Given the description of an element on the screen output the (x, y) to click on. 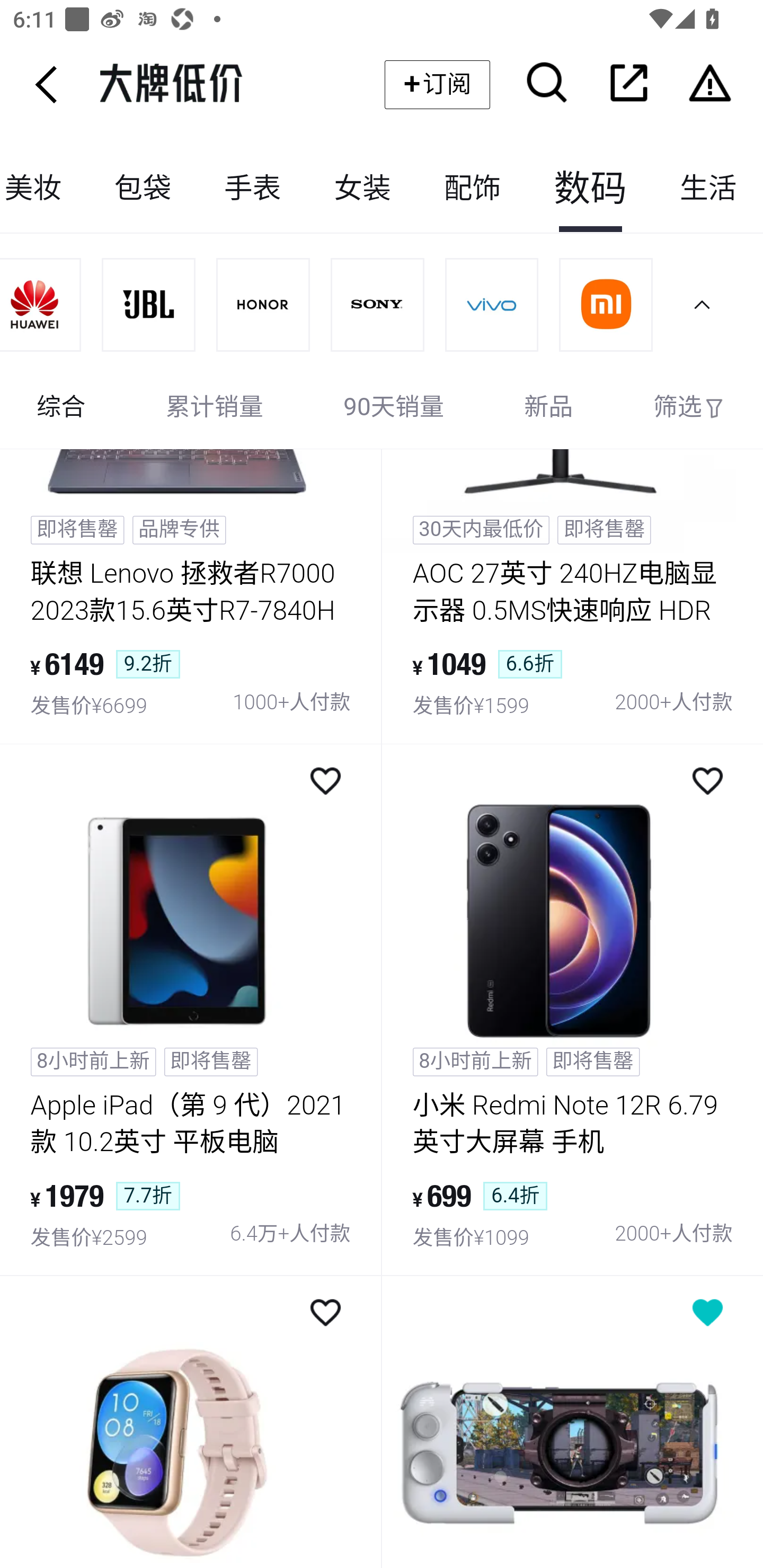
美妆 (44, 188)
包袋 (142, 188)
手表 (252, 188)
女装 (362, 188)
配饰 (471, 188)
数码 (590, 188)
生活 (708, 188)
img (41, 304)
img (148, 304)
img (262, 304)
img (376, 304)
img (490, 304)
img (605, 304)
综合 (60, 408)
累计销量 (214, 408)
90天销量 (393, 408)
新品 (547, 408)
筛选 resize,w_750 (688, 408)
img (190, 1422)
img (572, 1422)
